Given the description of an element on the screen output the (x, y) to click on. 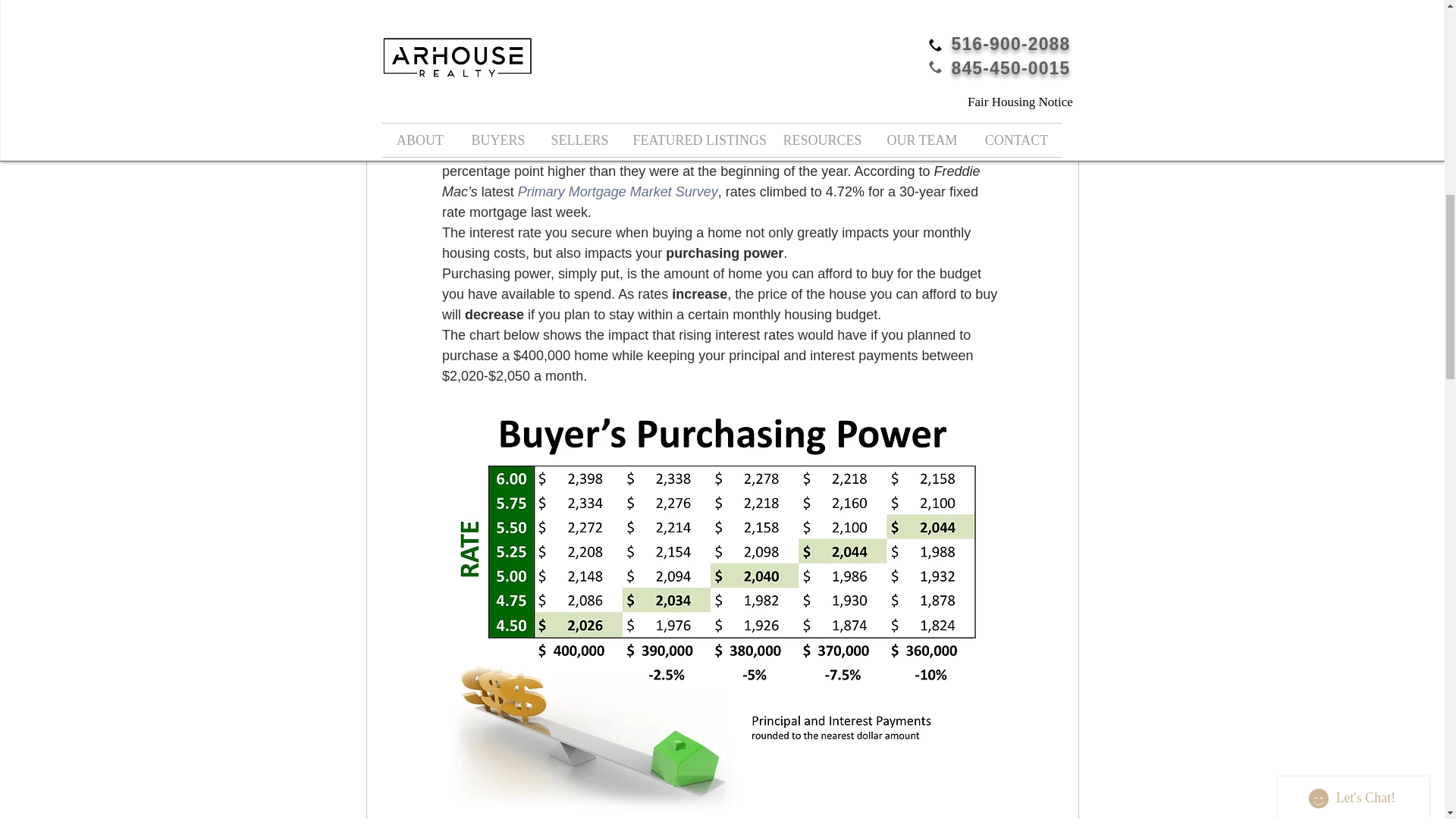
Primary Mortgage Market Survey (616, 191)
